Given the description of an element on the screen output the (x, y) to click on. 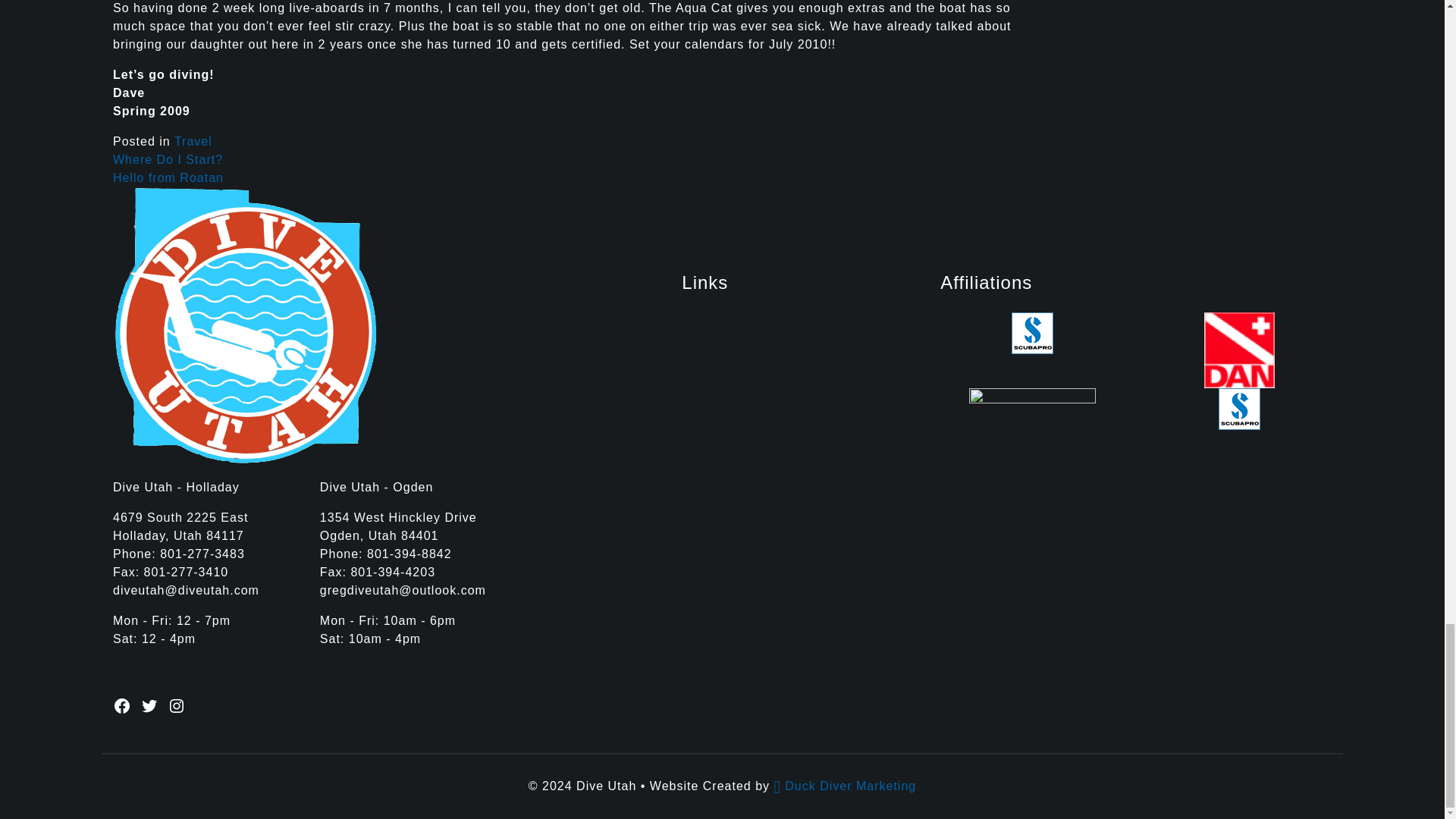
Travel (193, 141)
Where Do I Start? (167, 159)
Hello from Roatan (168, 177)
